Given the description of an element on the screen output the (x, y) to click on. 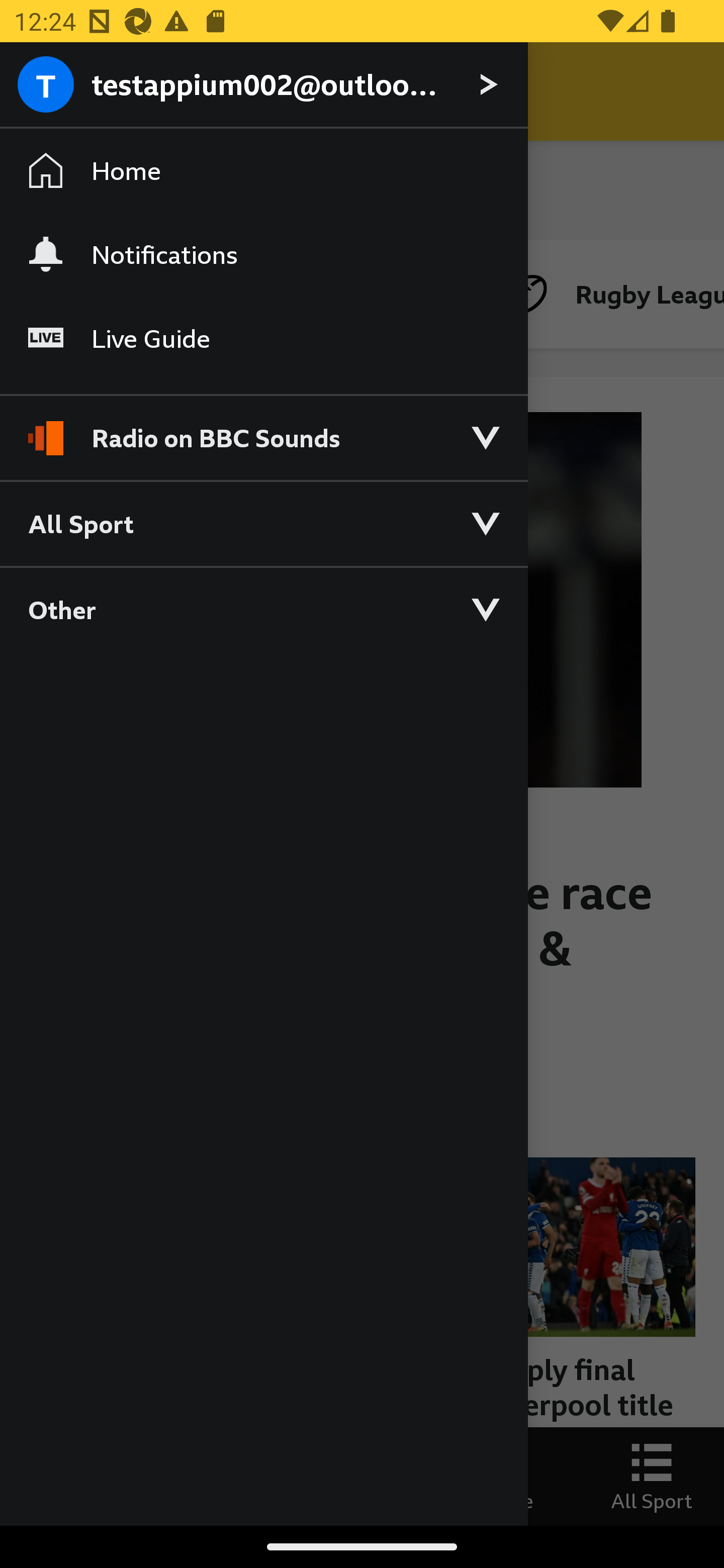
testappium002@outlook.com (263, 85)
Home (263, 170)
Notifications (263, 253)
Live Guide (263, 338)
Radio on BBC Sounds (263, 429)
All Sport (263, 522)
Other (263, 609)
